Given the description of an element on the screen output the (x, y) to click on. 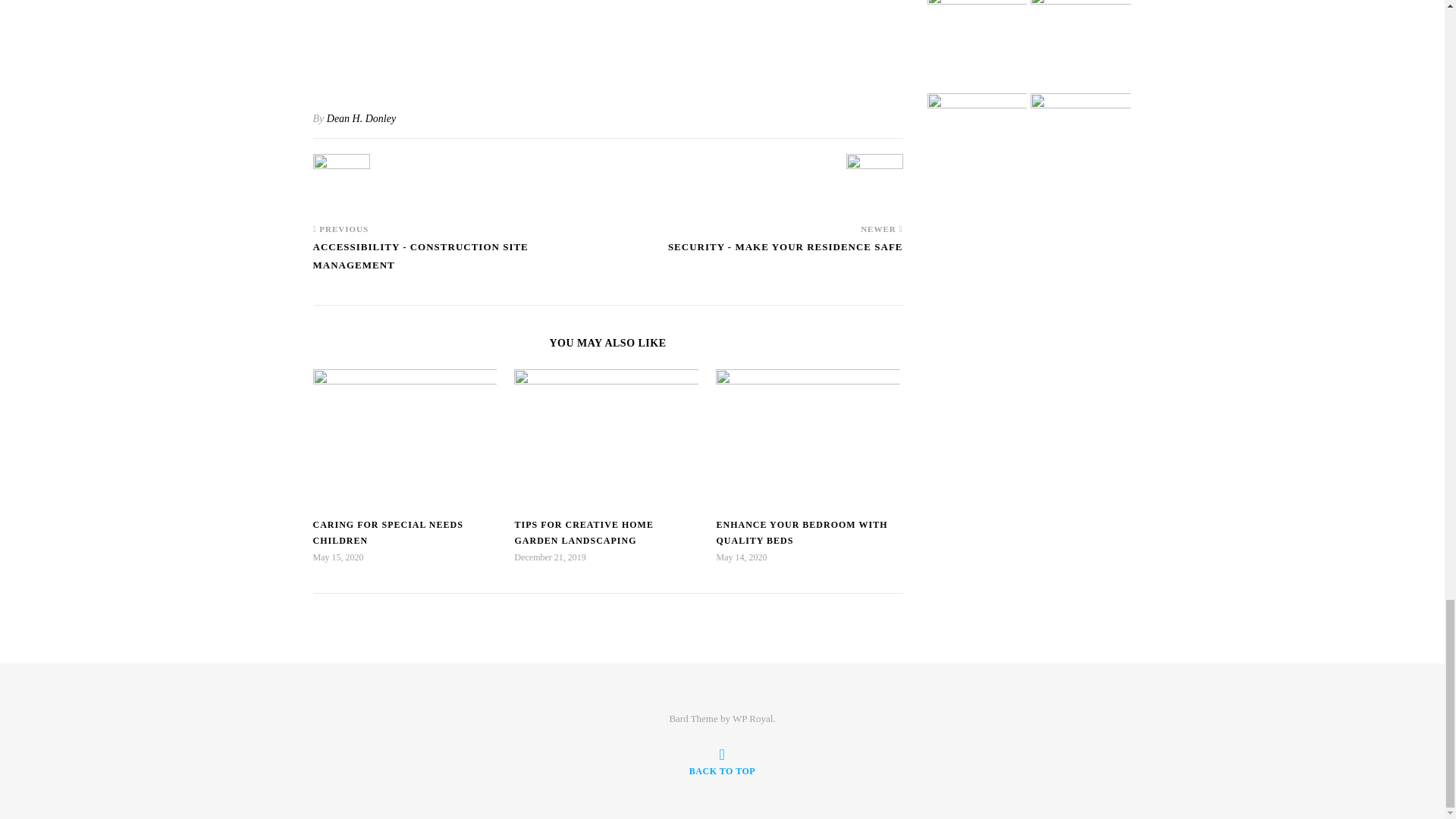
SECURITY - MAKE YOUR RESIDENCE SAFE (785, 254)
CARING FOR SPECIAL NEEDS CHILDREN (388, 532)
Accessibility - Construction Site Management (460, 263)
Posts by Dean H. Donley (361, 118)
Dean H. Donley (361, 118)
Security - Make Your Residence Safe (785, 254)
BACK TO TOP (722, 761)
Security - Make Your Residence Safe (873, 181)
Accessibility - Construction Site Management (341, 181)
YouTube video player (607, 40)
